Given the description of an element on the screen output the (x, y) to click on. 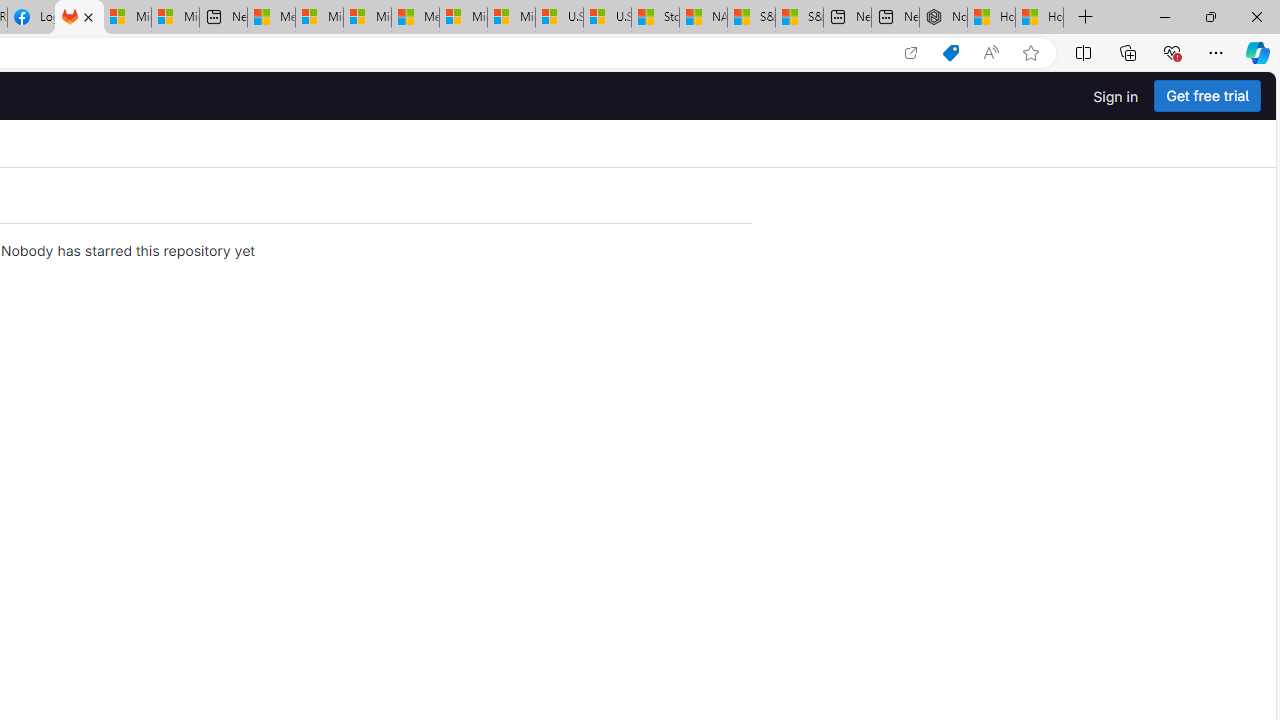
Get free trial (1207, 95)
Copilot (Ctrl+Shift+.) (1258, 52)
S&P 500, Nasdaq end lower, weighed by Nvidia dip | Watch (799, 17)
Add this page to favorites (Ctrl+D) (1030, 53)
Get free trial (1207, 95)
Browser essentials (1171, 52)
How to Use a Monitor With Your Closed Laptop (1039, 17)
Close tab (88, 16)
Settings and more (Alt+F) (1215, 52)
Read aloud this page (Ctrl+Shift+U) (991, 53)
